Given the description of an element on the screen output the (x, y) to click on. 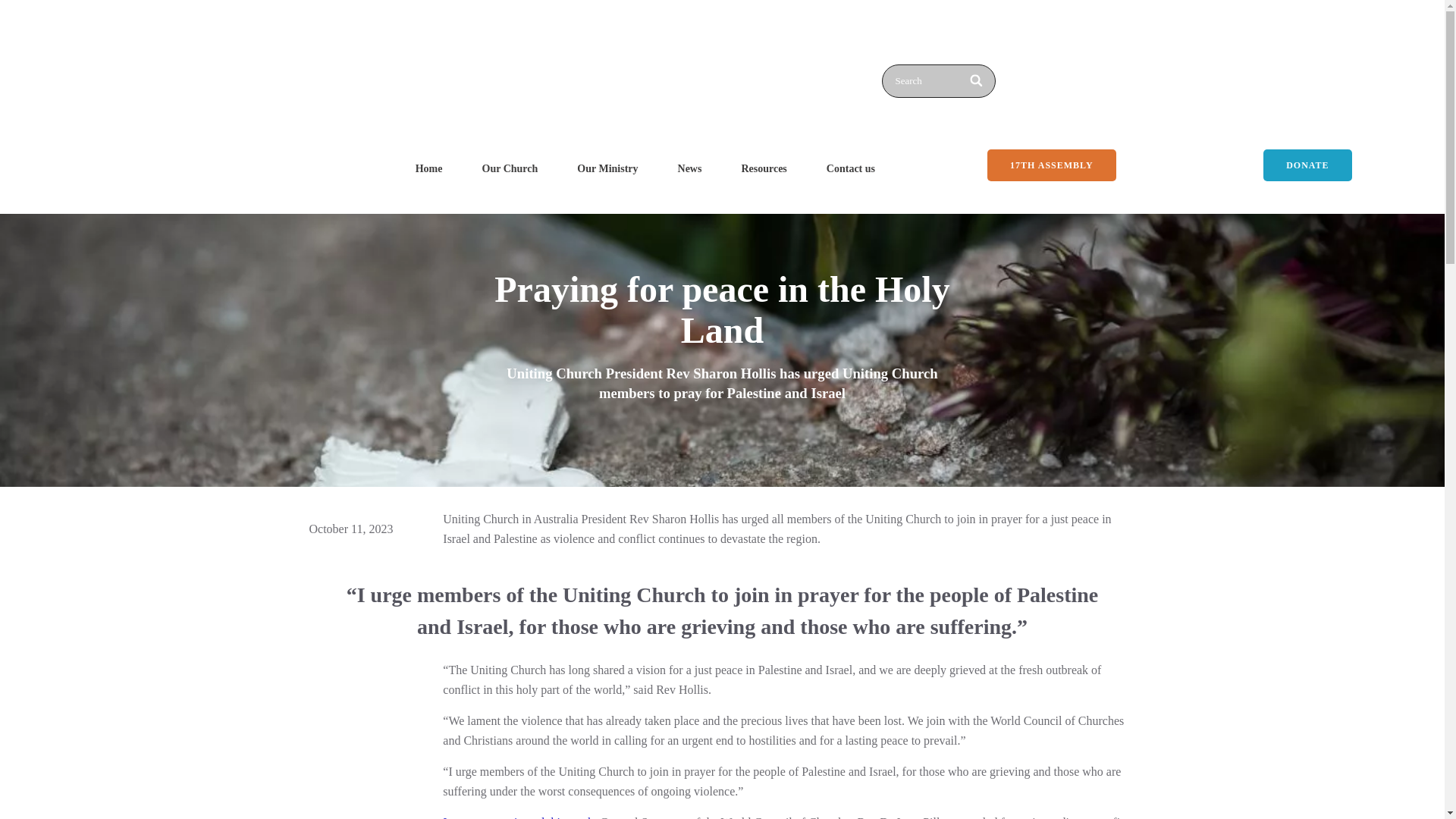
Our Ministry (607, 168)
uniting-church-in-australia-assembly-logo (492, 66)
DONATE (1307, 164)
Home (429, 168)
Our Church (510, 168)
17TH ASSEMBLY (1051, 164)
News (690, 168)
Resources (763, 168)
Search (937, 80)
In a statement issued this week (518, 817)
Contact us (850, 168)
